Given the description of an element on the screen output the (x, y) to click on. 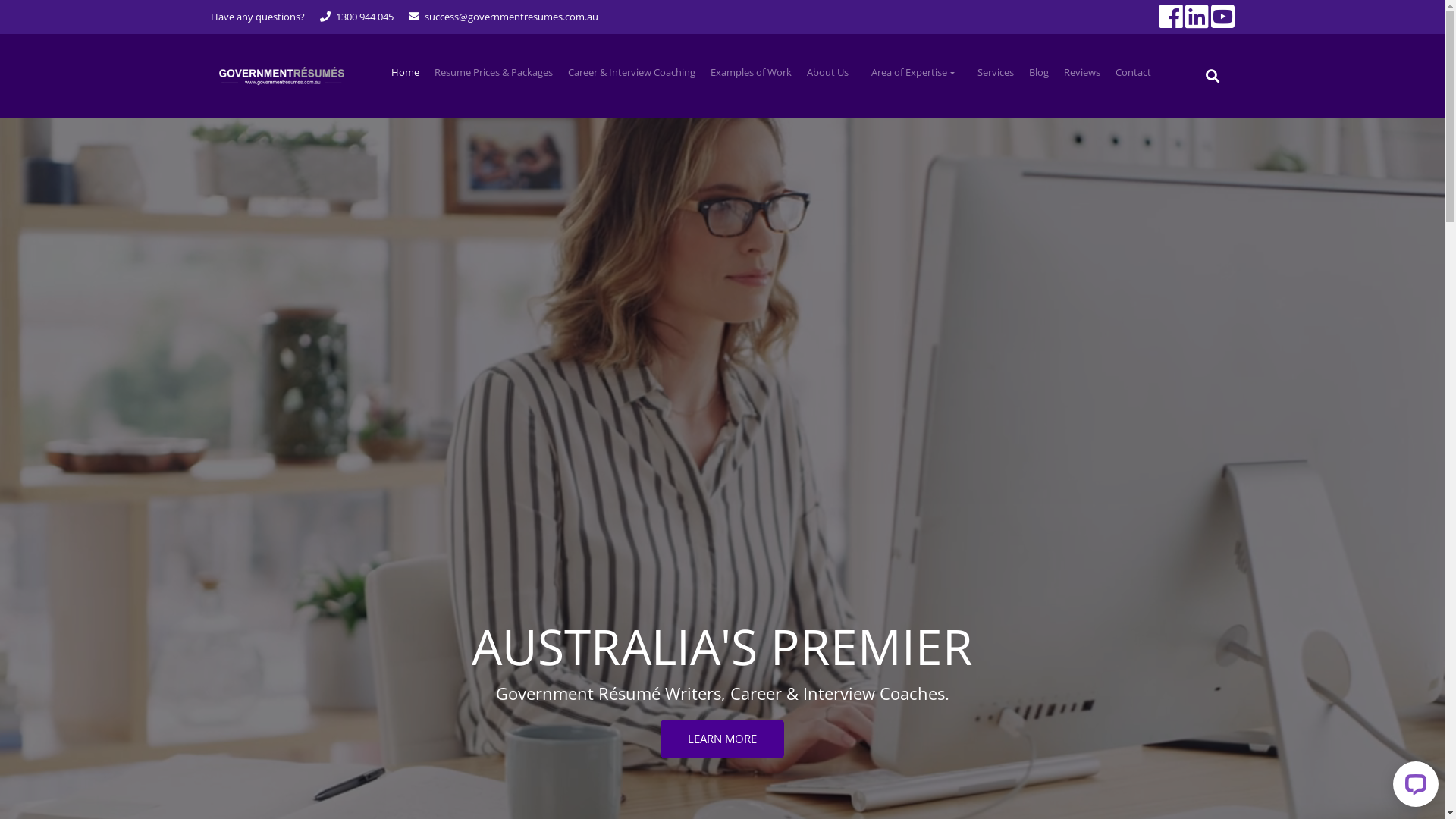
Youtube Element type: hover (1220, 13)
LinkedIn Element type: hover (1194, 13)
Services Element type: text (995, 72)
facebook Element type: hover (1168, 13)
Reviews Element type: text (1081, 72)
Resume Prices & Packages Element type: text (493, 72)
Contact Element type: text (1133, 72)
Career & Interview Coaching Element type: text (631, 72)
Examples of Work Element type: text (750, 72)
LEARN MORE Element type: text (722, 738)
Blog Element type: text (1038, 72)
1300 944 045 Element type: text (363, 16)
About Us Element type: text (827, 72)
Home Element type: text (405, 72)
success@governmentresumes.com.au Element type: text (511, 16)
Area of Expertise Element type: text (912, 72)
